Given the description of an element on the screen output the (x, y) to click on. 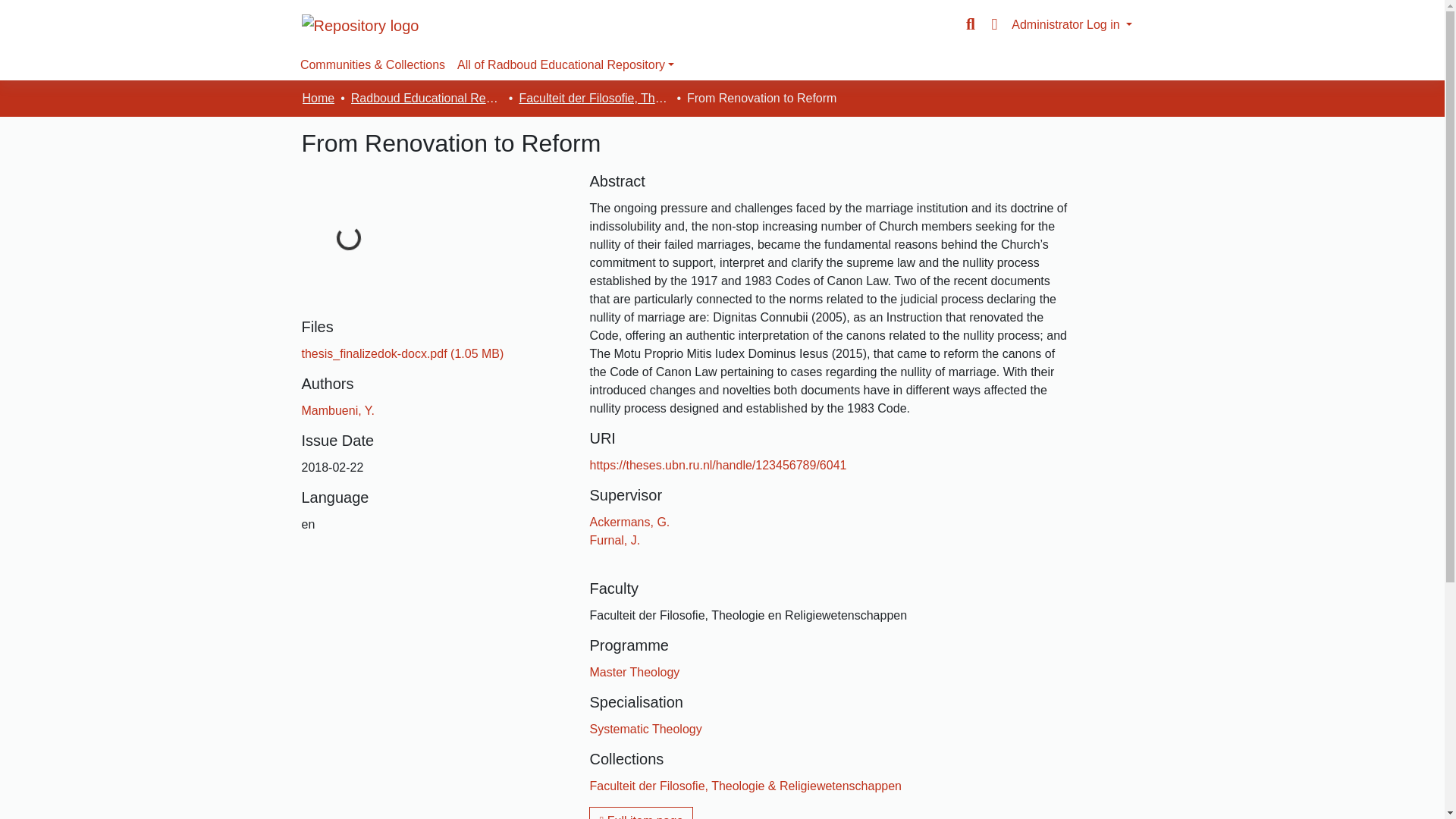
Ackermans, G. (629, 521)
Master Theology (634, 671)
Administrator Log in (1072, 24)
Systematic Theology (645, 728)
Home (317, 98)
Search (970, 24)
Full item page (641, 812)
Furnal, J. (614, 540)
Language switch (993, 24)
Mambueni, Y. (337, 410)
